Given the description of an element on the screen output the (x, y) to click on. 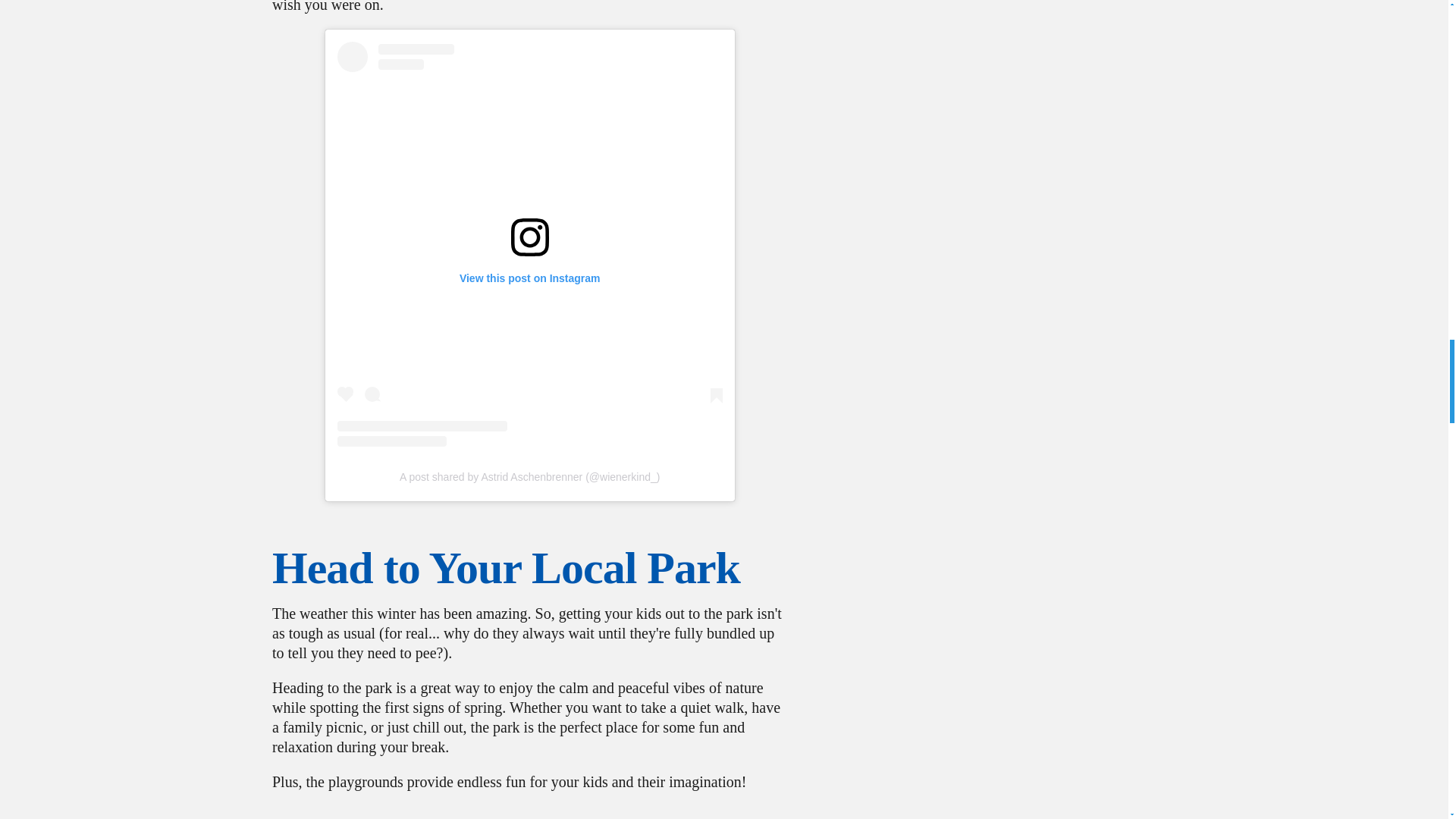
YouTube video player (529, 812)
